Given the description of an element on the screen output the (x, y) to click on. 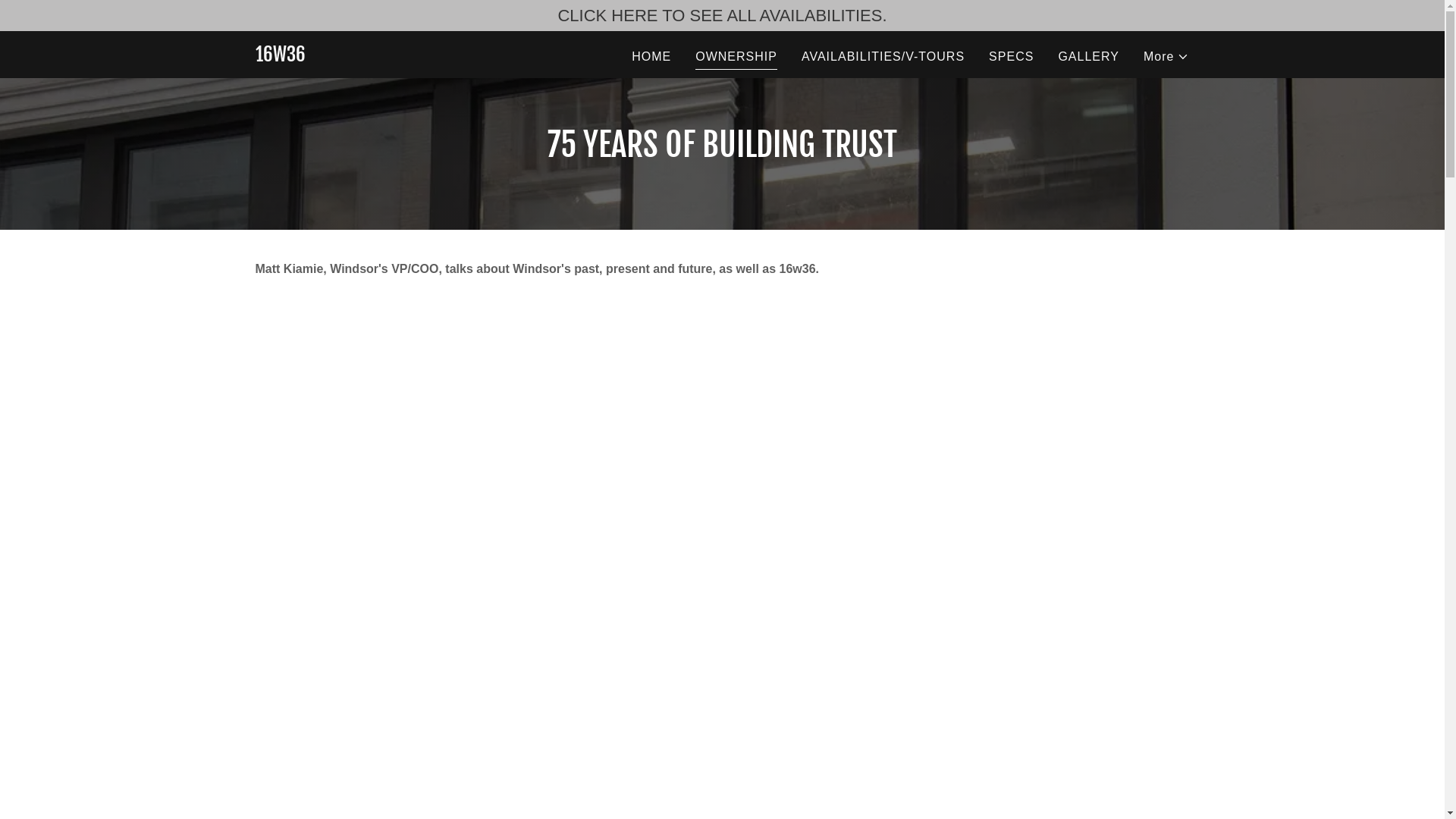
CLICK HERE TO SEE ALL AVAILABILITIES. Element type: text (722, 15)
16W36 Element type: text (279, 56)
GALLERY Element type: text (1088, 55)
OWNERSHIP Element type: text (736, 58)
AVAILABILITIES/V-TOURS Element type: text (883, 55)
More Element type: text (1166, 56)
HOME Element type: text (651, 55)
SPECS Element type: text (1011, 55)
